Given the description of an element on the screen output the (x, y) to click on. 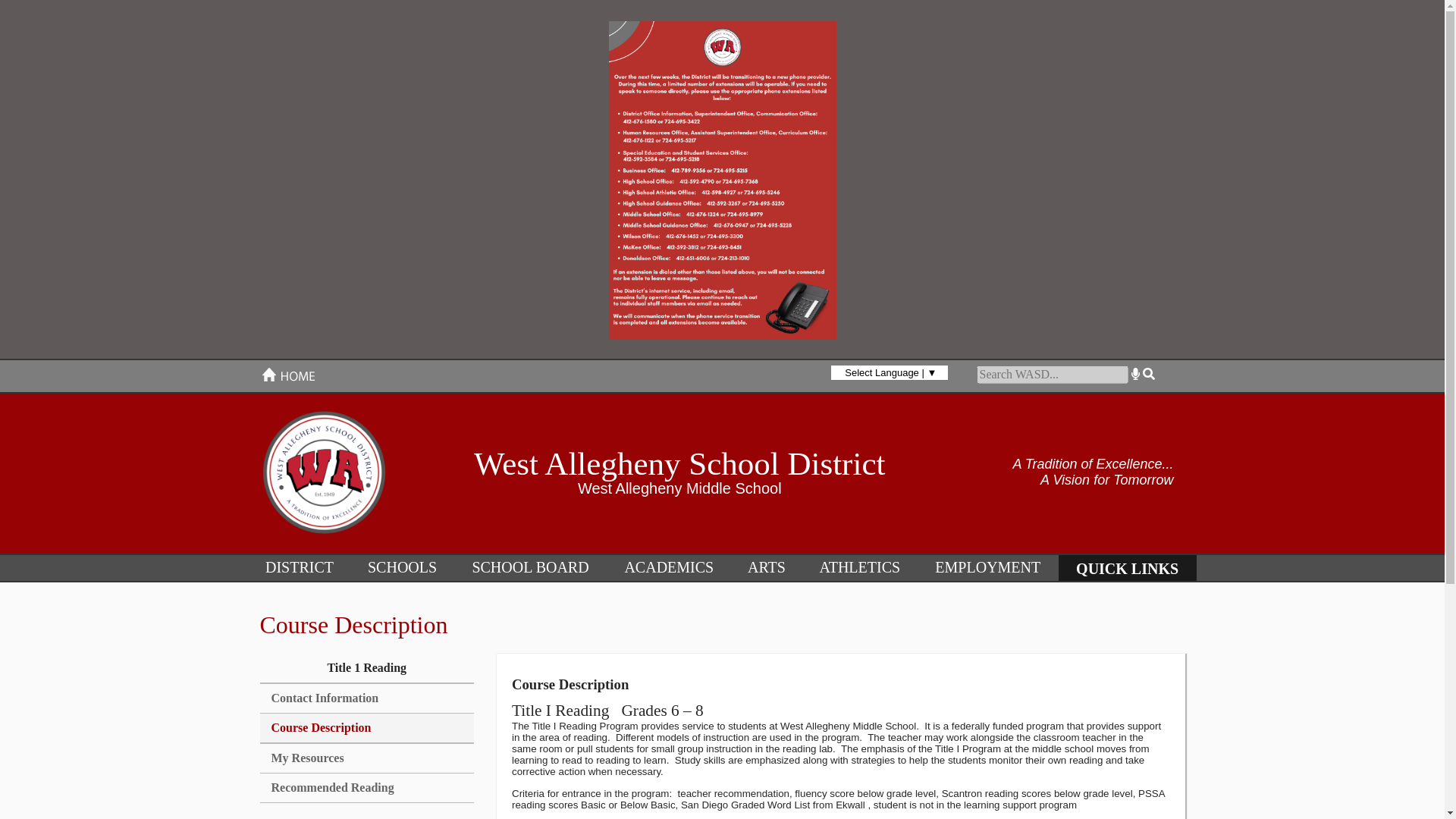
Home (288, 379)
Home (288, 374)
